Given the description of an element on the screen output the (x, y) to click on. 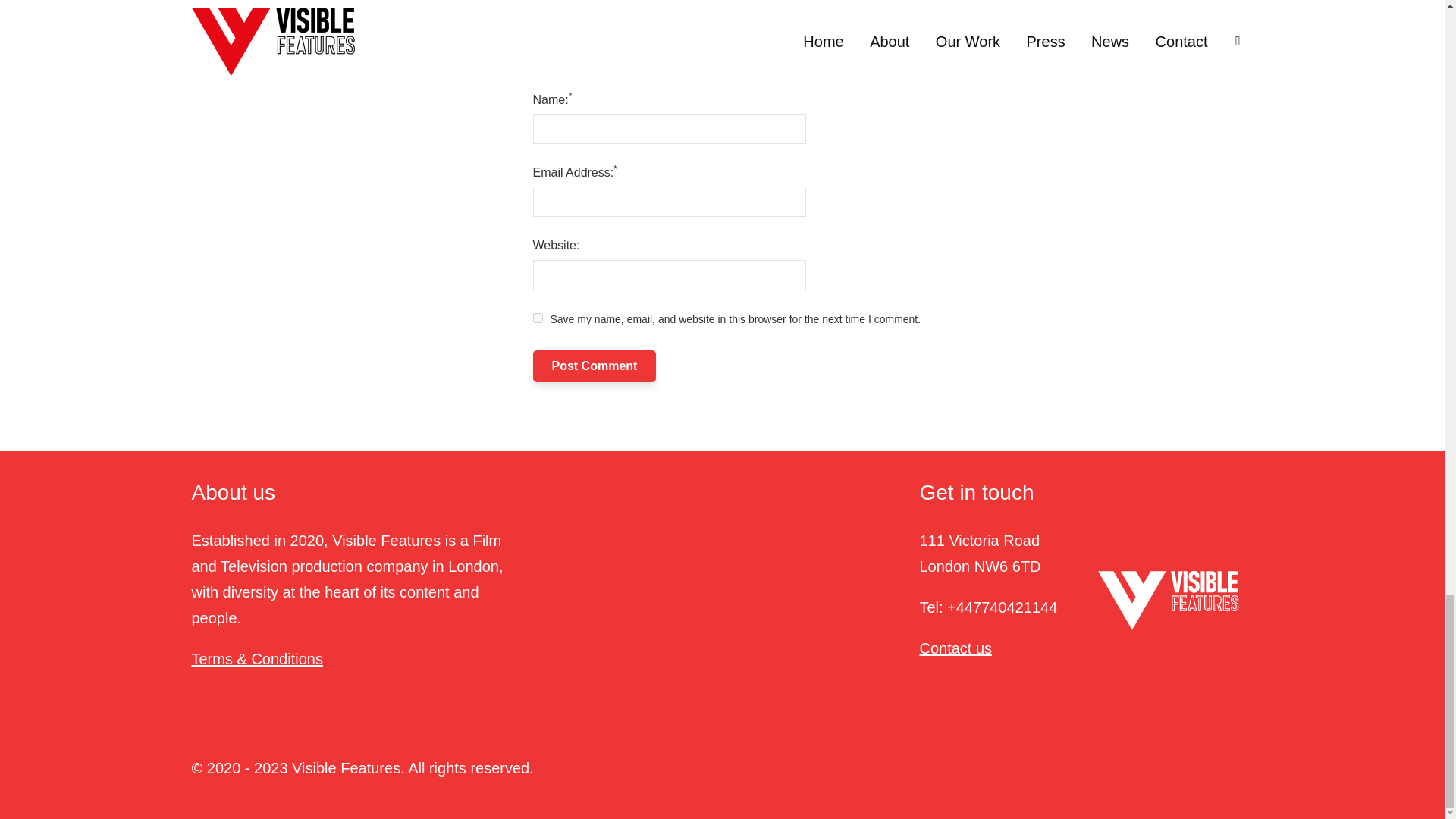
yes (536, 317)
Post Comment (594, 366)
Post Comment (594, 366)
Contact us (954, 647)
